Given the description of an element on the screen output the (x, y) to click on. 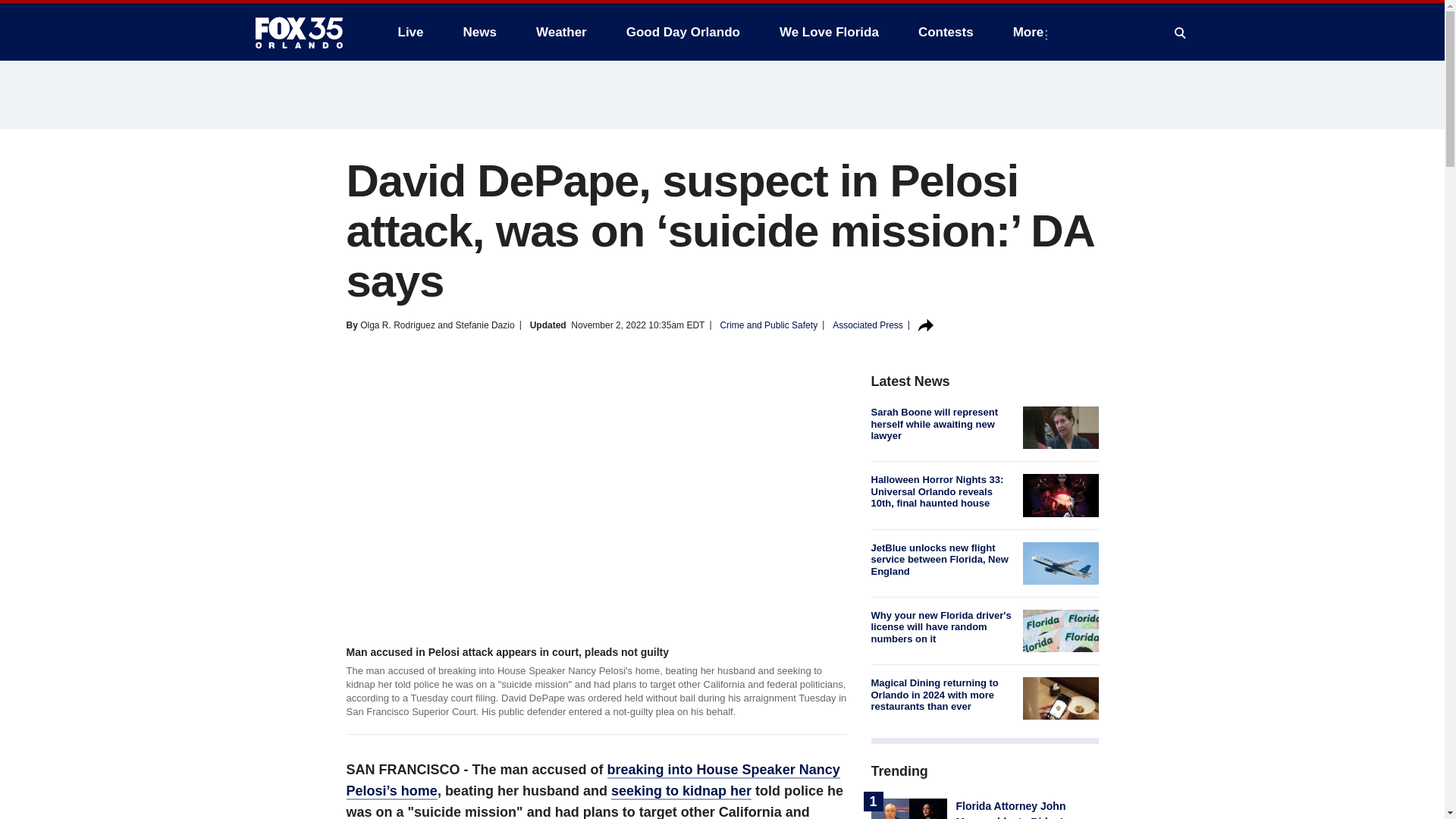
News (479, 32)
Live (410, 32)
Good Day Orlando (683, 32)
More (1031, 32)
Contests (945, 32)
We Love Florida (829, 32)
Weather (561, 32)
